Given the description of an element on the screen output the (x, y) to click on. 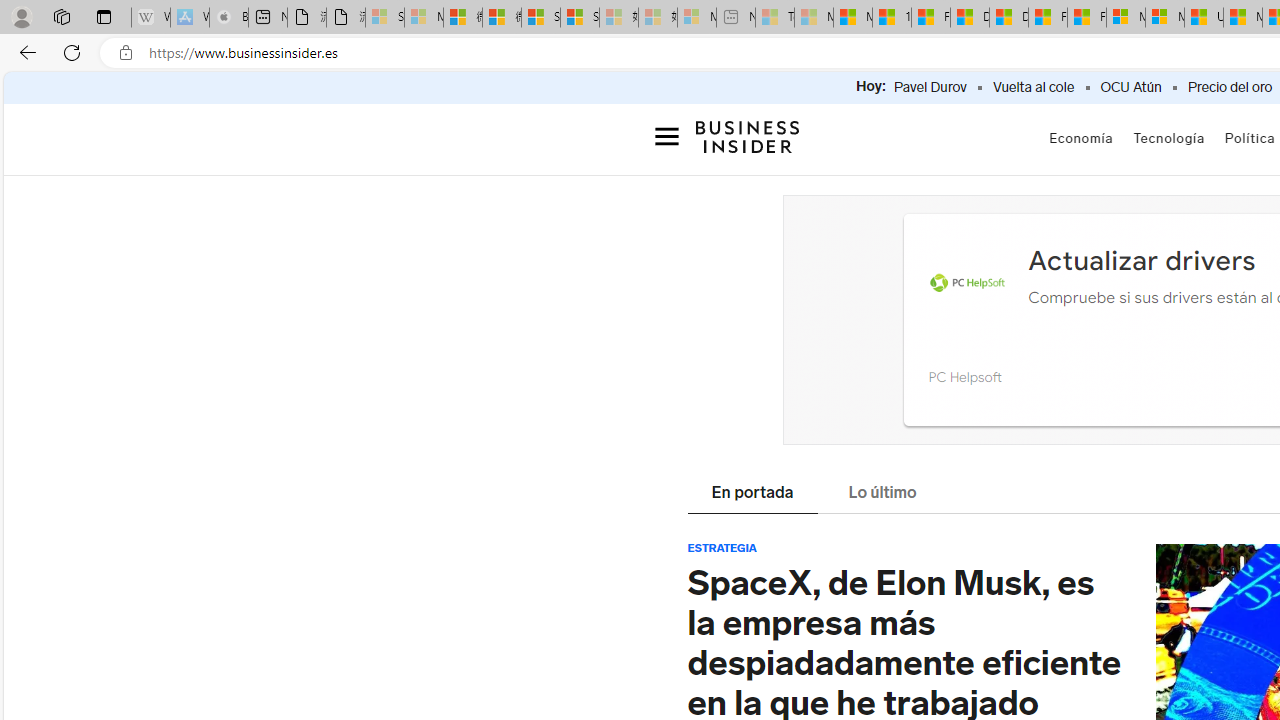
New tab - Sleeping (735, 17)
Pavel Durov (929, 88)
Vuelta al cole (1033, 88)
Actualizar drivers (1140, 260)
